Given the description of an element on the screen output the (x, y) to click on. 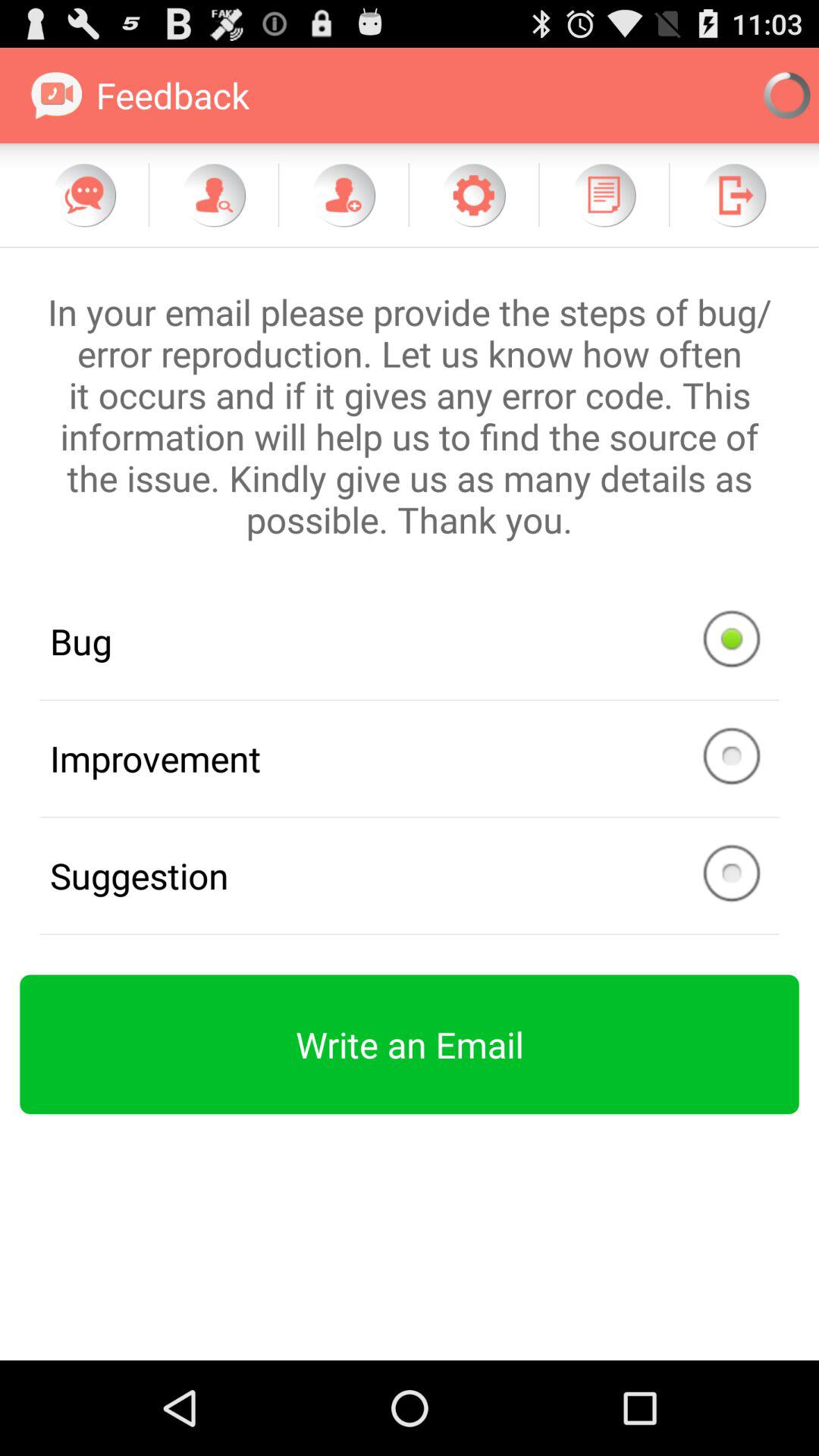
perform search (213, 194)
